Given the description of an element on the screen output the (x, y) to click on. 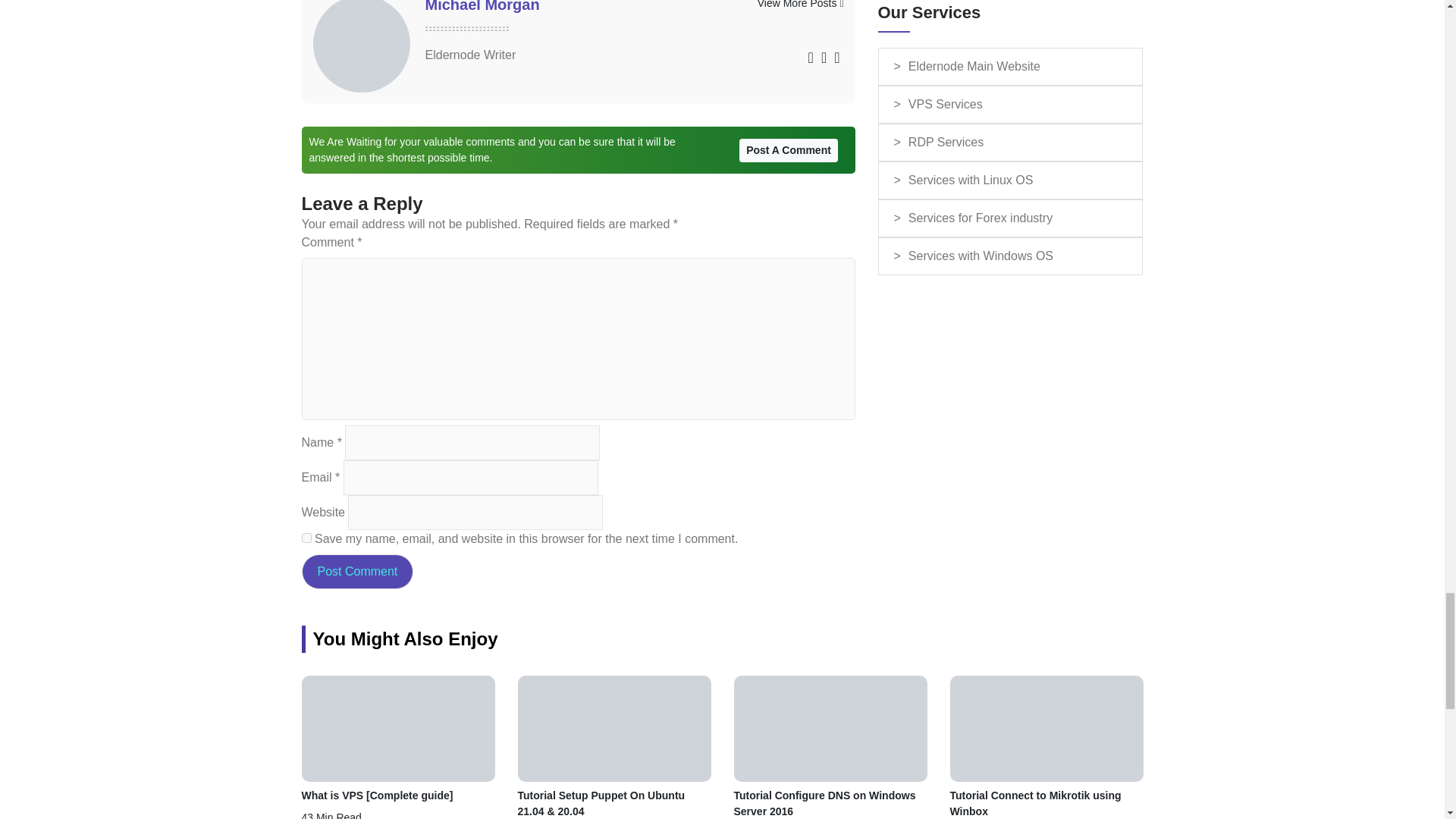
Post Comment (357, 571)
yes (306, 537)
